Given the description of an element on the screen output the (x, y) to click on. 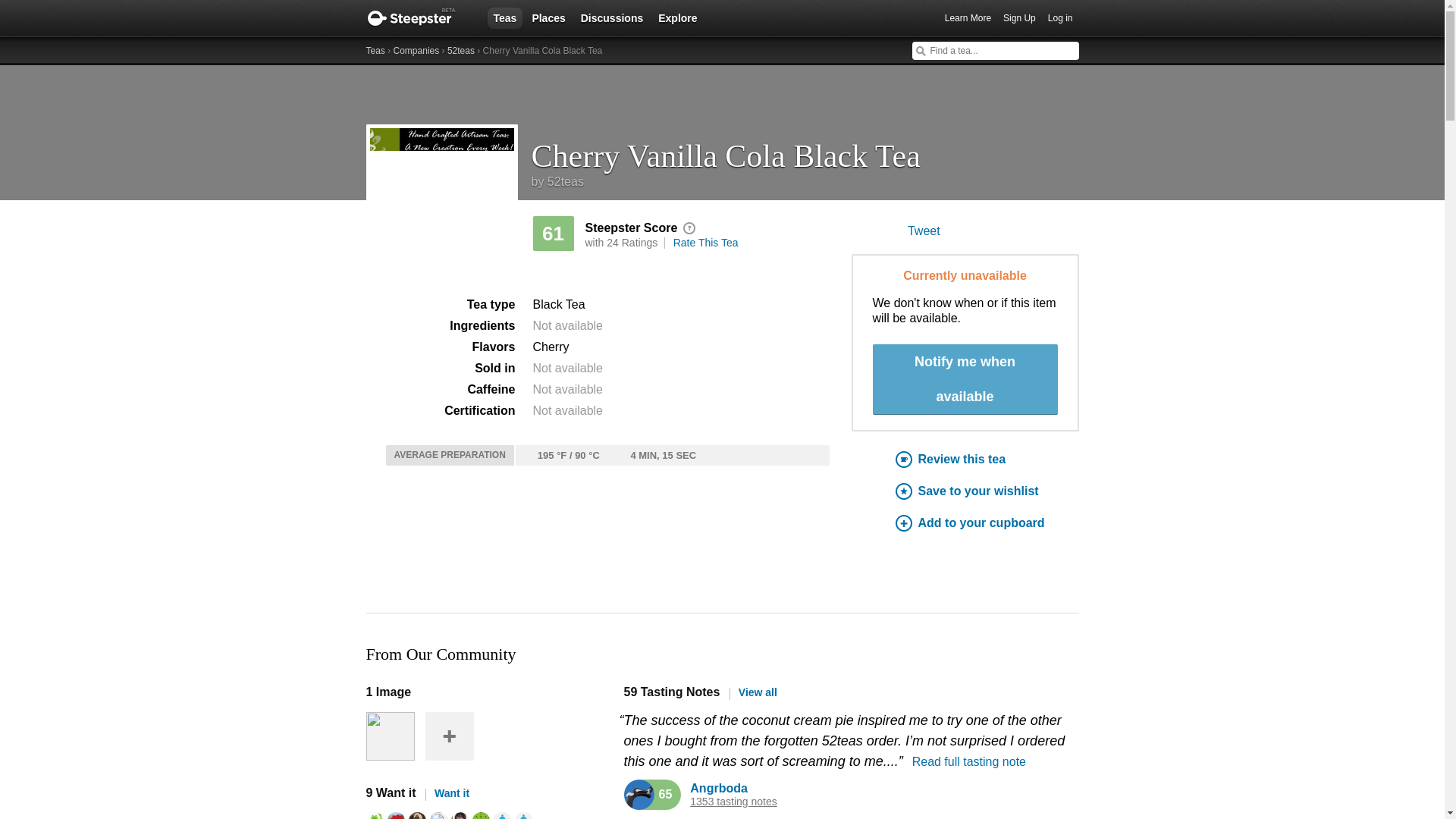
Review this tea (986, 458)
Companies (416, 50)
Steepster (418, 18)
Tweet (923, 230)
Explore (677, 17)
by 52teas (557, 181)
Want it (446, 793)
52teas (460, 50)
Save to your wishlist (986, 490)
Log in (1060, 18)
Discussions (612, 17)
Teas (374, 50)
Rate This Tea (705, 242)
Cherry Vanilla Cola Black Tea (804, 150)
Notify me when available (964, 378)
